Given the description of an element on the screen output the (x, y) to click on. 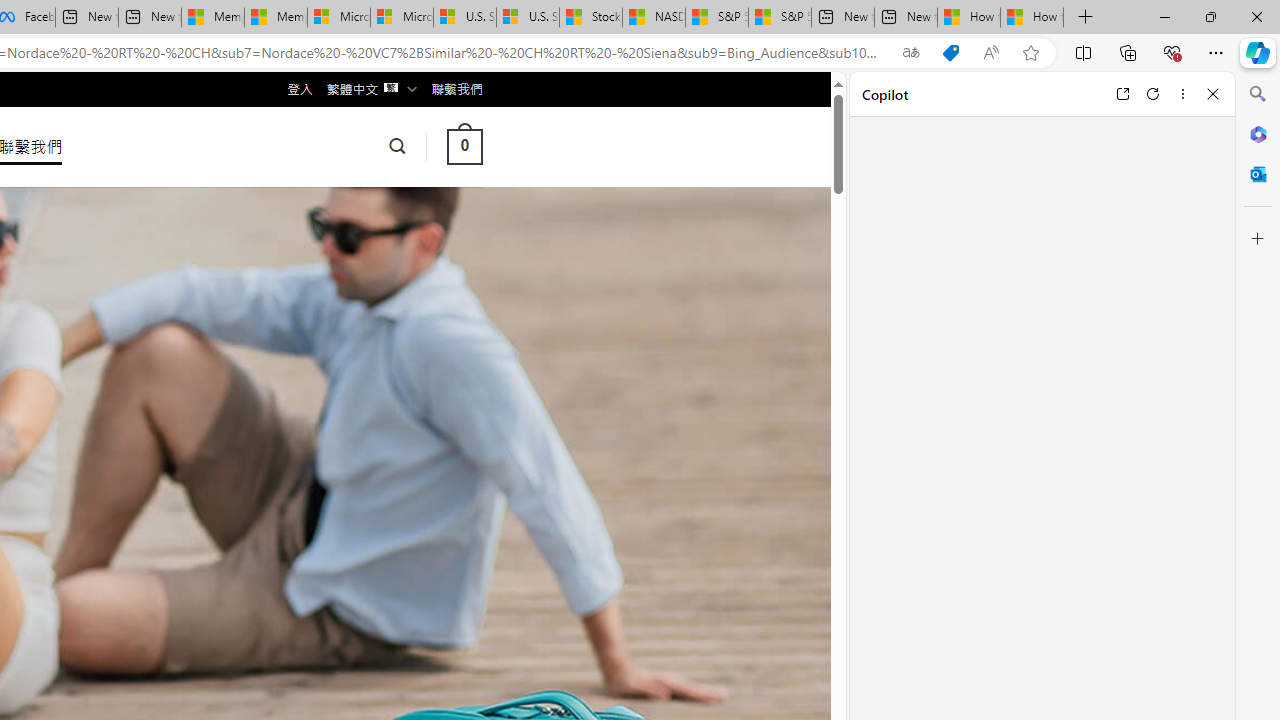
Open link in new tab (1122, 93)
